Given the description of an element on the screen output the (x, y) to click on. 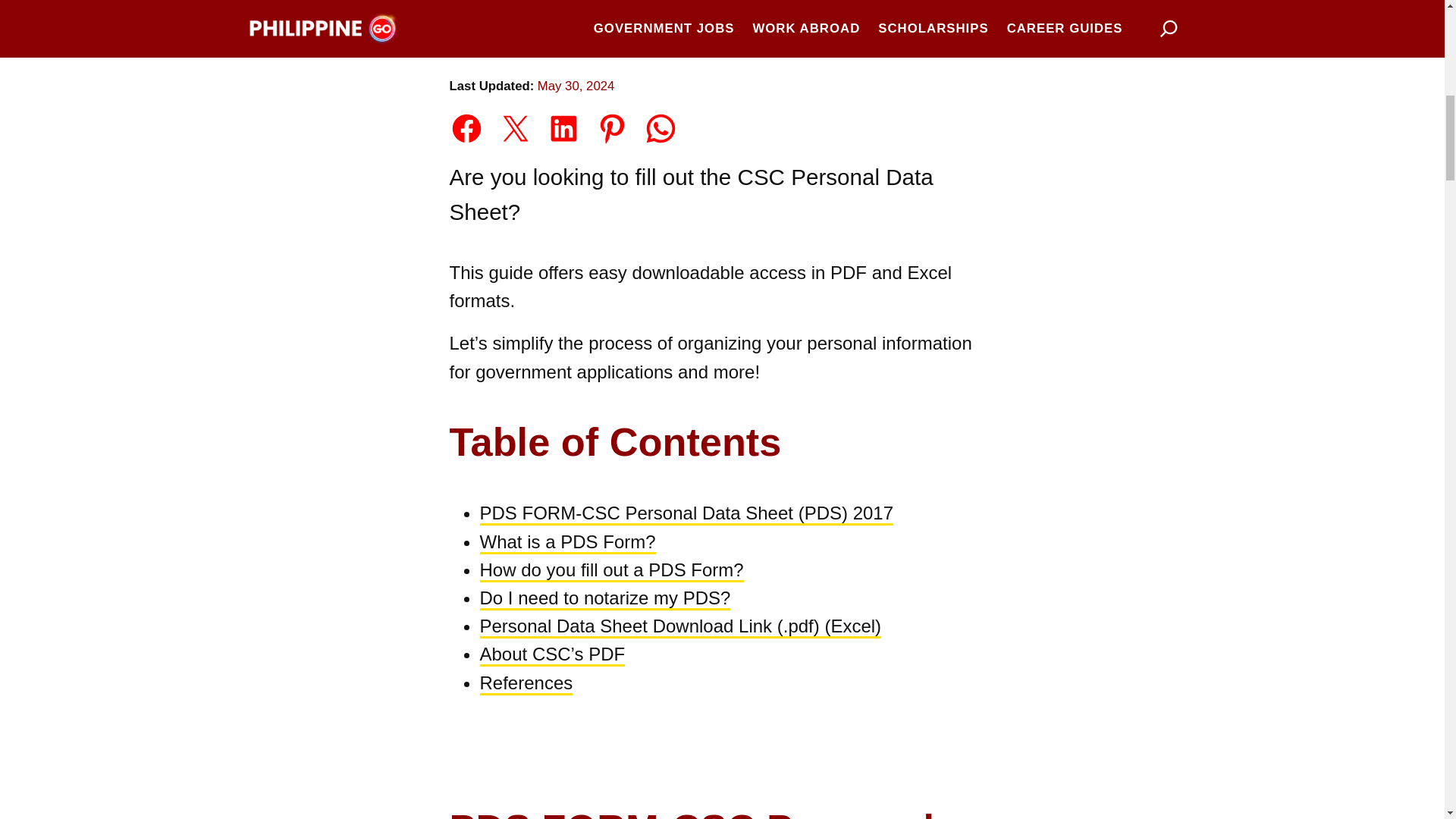
Share on LinkedIn (563, 128)
Share on Pinterest (611, 128)
How do you fill out a PDS Form? (610, 570)
Do I need to notarize my PDS? (604, 599)
Share on Facebook (465, 128)
Share on X (514, 128)
References (525, 683)
Share on WhatsApp (660, 128)
What is a PDS Form? (567, 542)
